Given the description of an element on the screen output the (x, y) to click on. 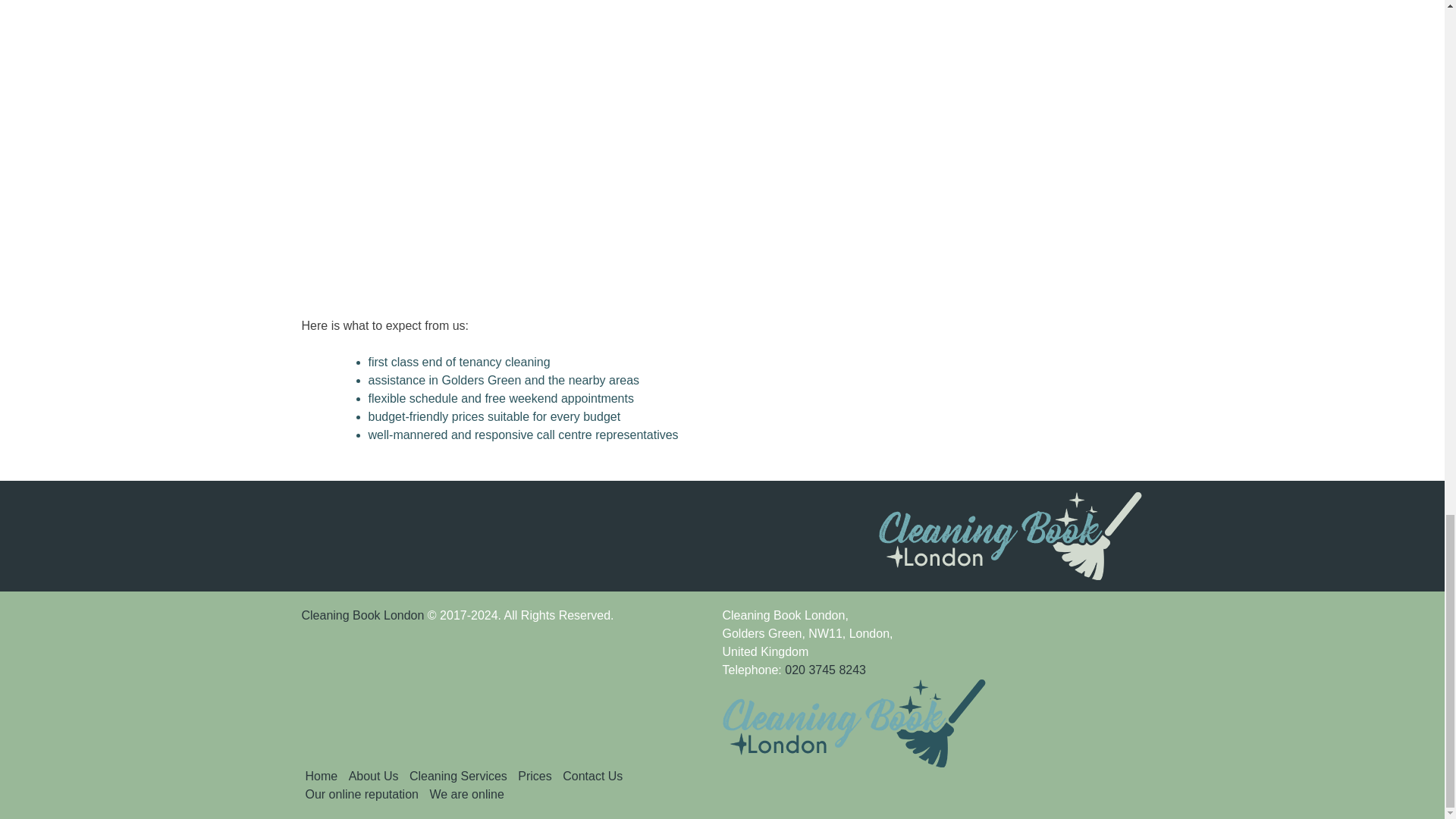
Prices (534, 775)
We are online (466, 793)
Home (320, 775)
020 3745 8243 (825, 669)
Contact Us (592, 775)
About Us (373, 775)
Cleaning Book London (363, 615)
Cleaning Services (457, 775)
Our online reputation (360, 793)
